Given the description of an element on the screen output the (x, y) to click on. 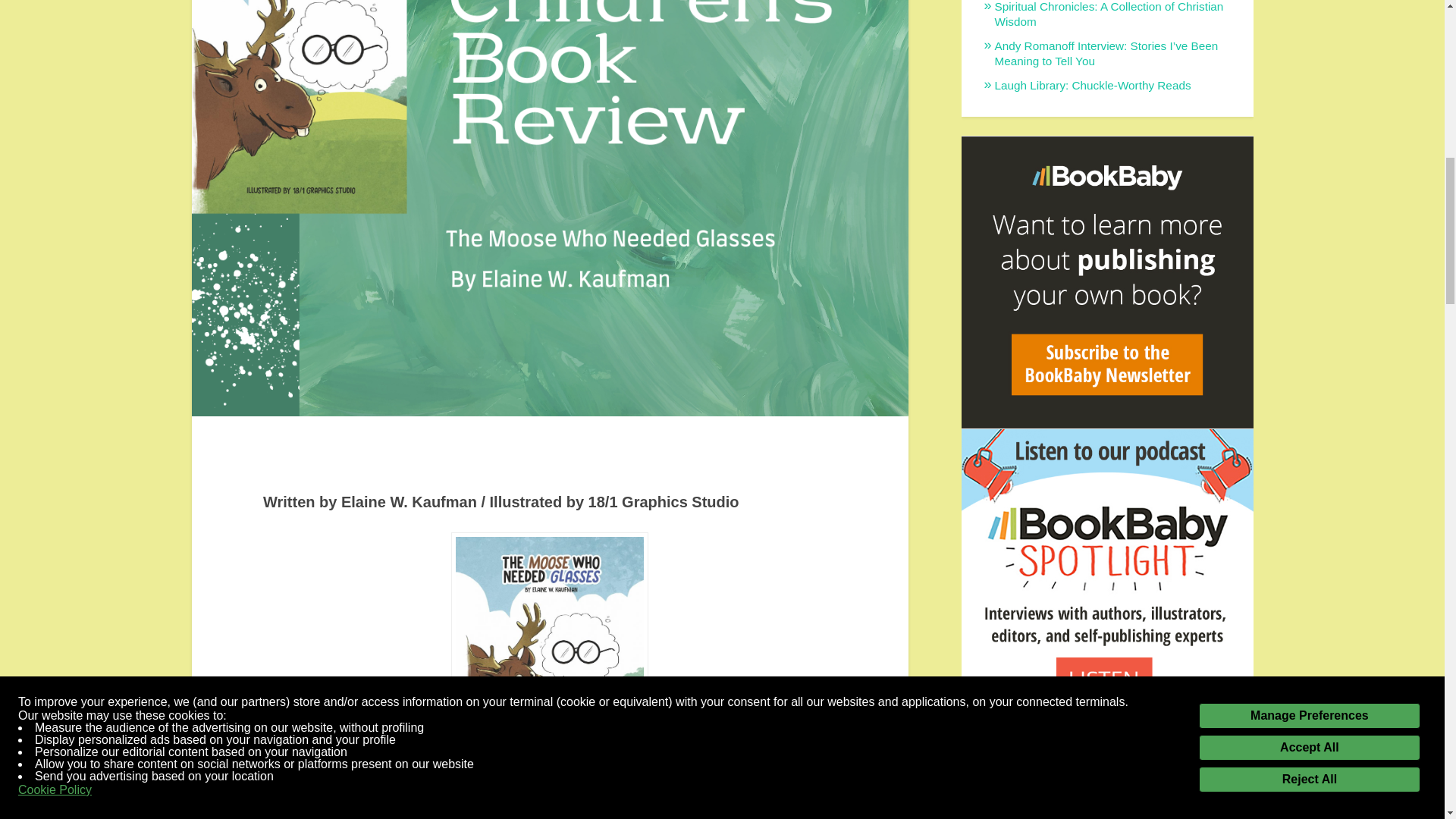
The Moose Who Needed Glasses (365, 796)
Spiritual Chronicles: A Collection of Christian Wisdom (1109, 13)
